Given the description of an element on the screen output the (x, y) to click on. 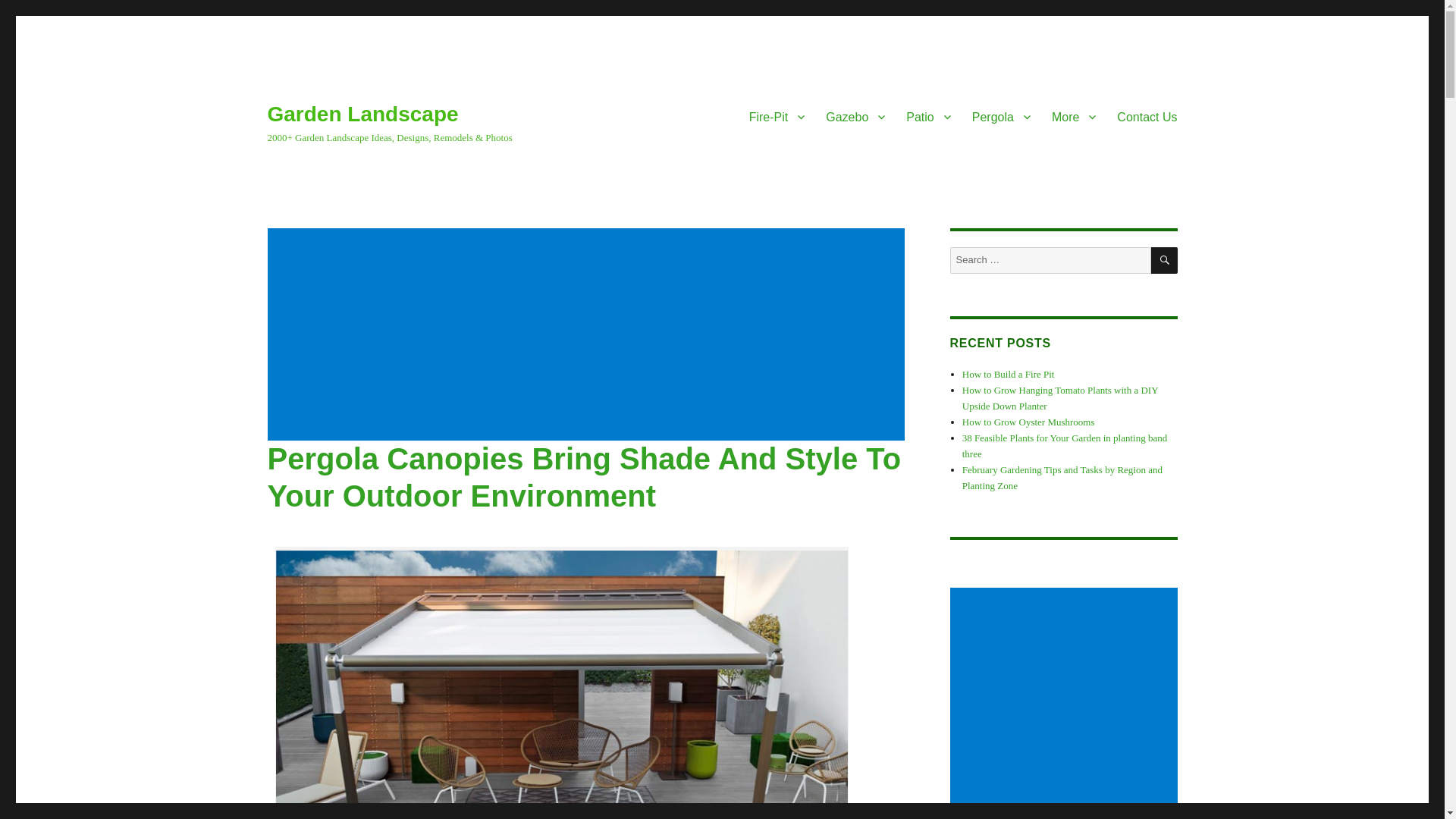
Patio (927, 116)
Garden Landscape (362, 114)
Gazebo (855, 116)
Fire-Pit (776, 116)
